Given the description of an element on the screen output the (x, y) to click on. 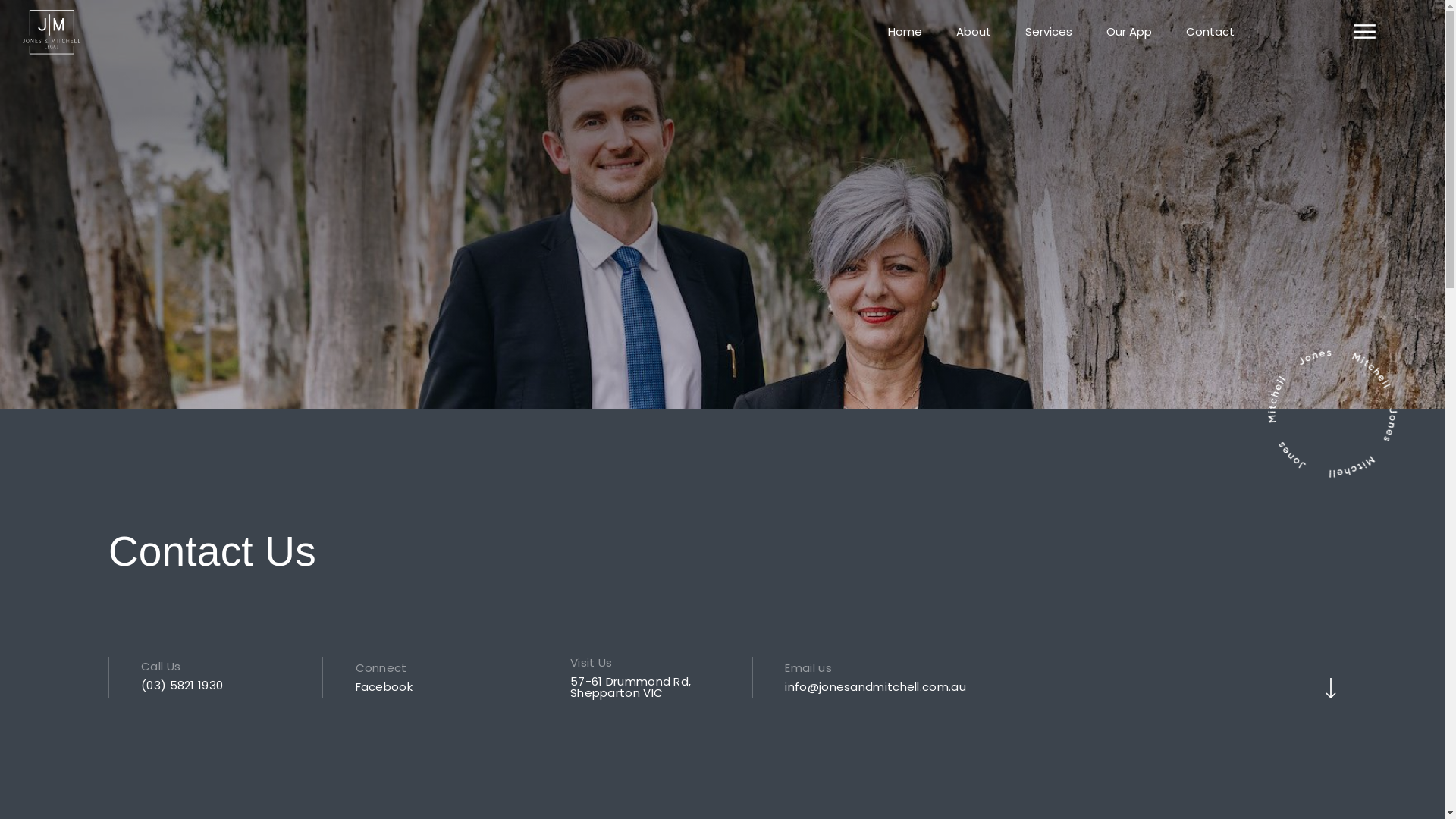
Home Element type: text (905, 31)
Contact Element type: text (1210, 31)
About Element type: text (973, 31)
Services Element type: text (1048, 31)
Our App Element type: text (1128, 31)
